Given the description of an element on the screen output the (x, y) to click on. 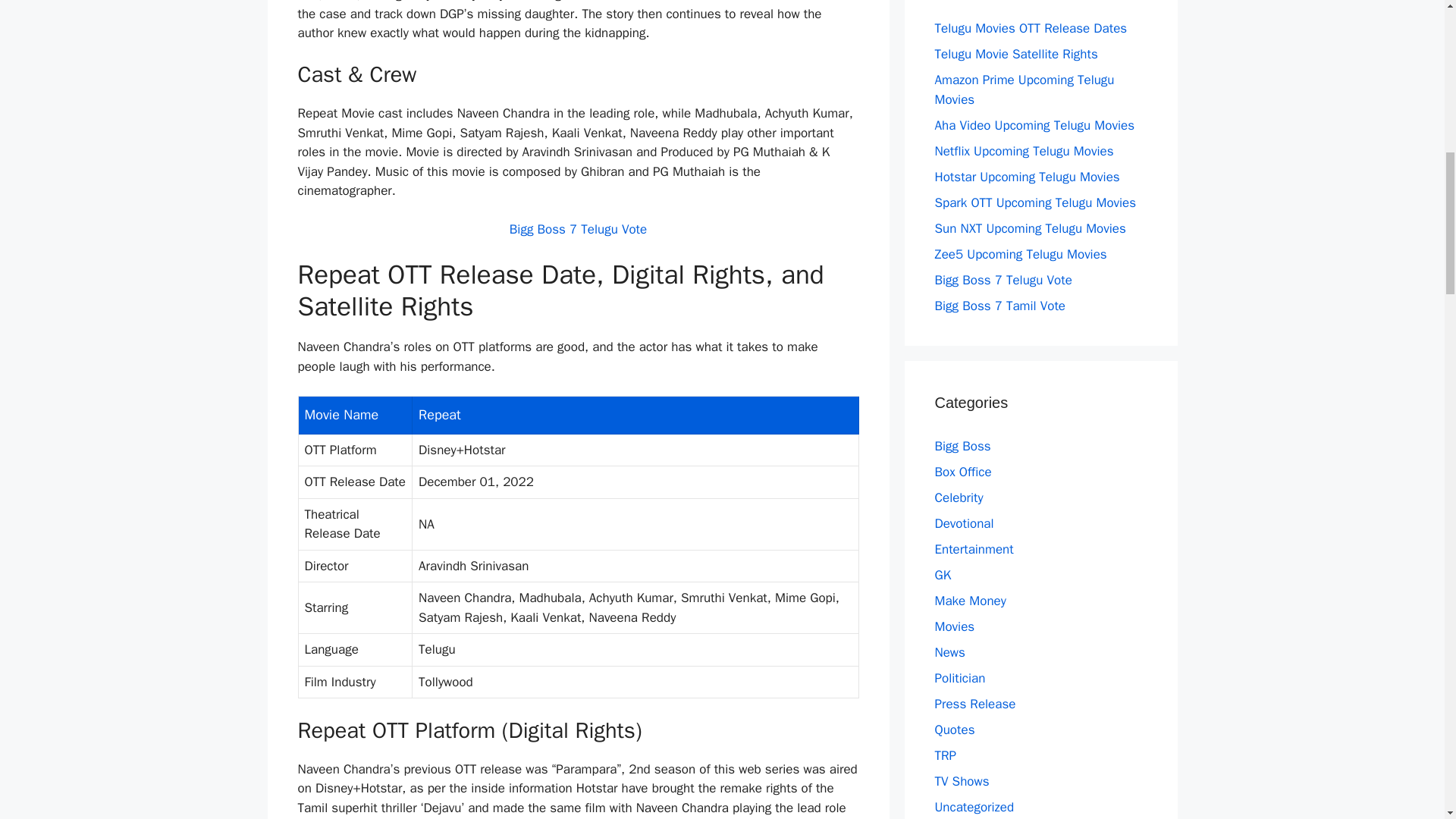
Bigg Boss 7 Telugu Vote (577, 229)
